Given the description of an element on the screen output the (x, y) to click on. 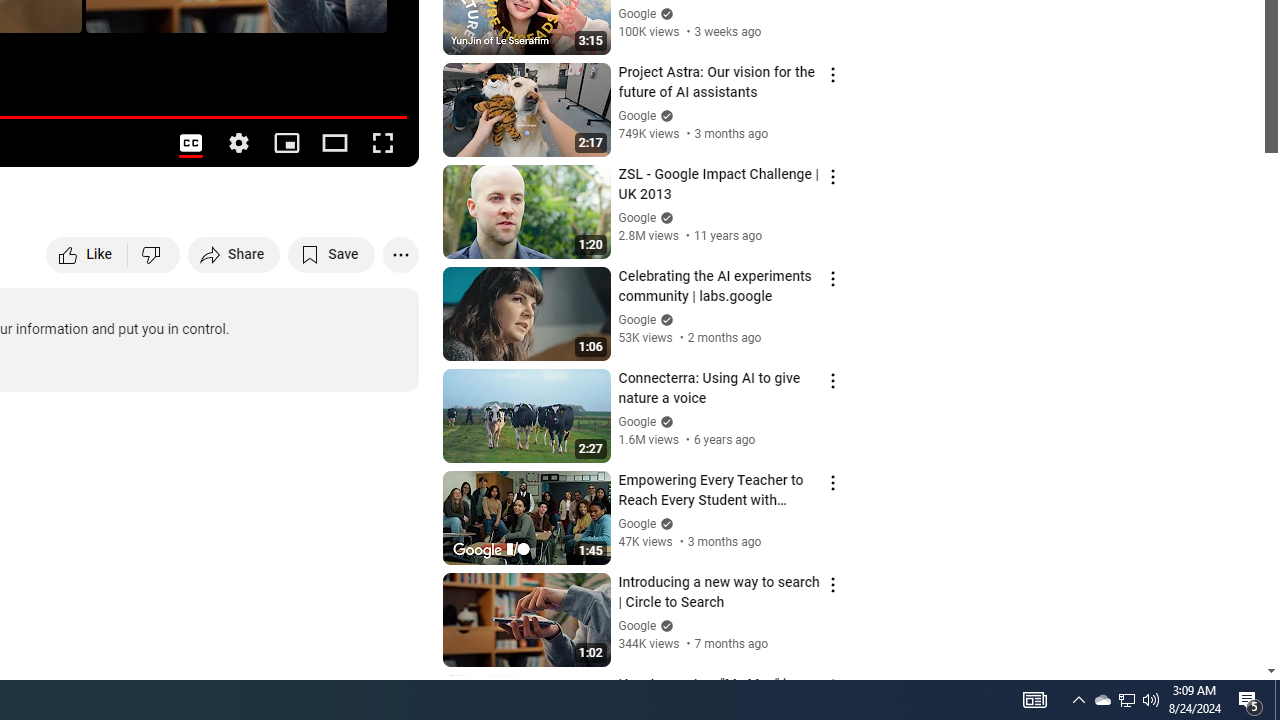
Subtitles/closed captions unavailable (190, 142)
Verified (664, 624)
Theater mode (t) (333, 142)
